Given the description of an element on the screen output the (x, y) to click on. 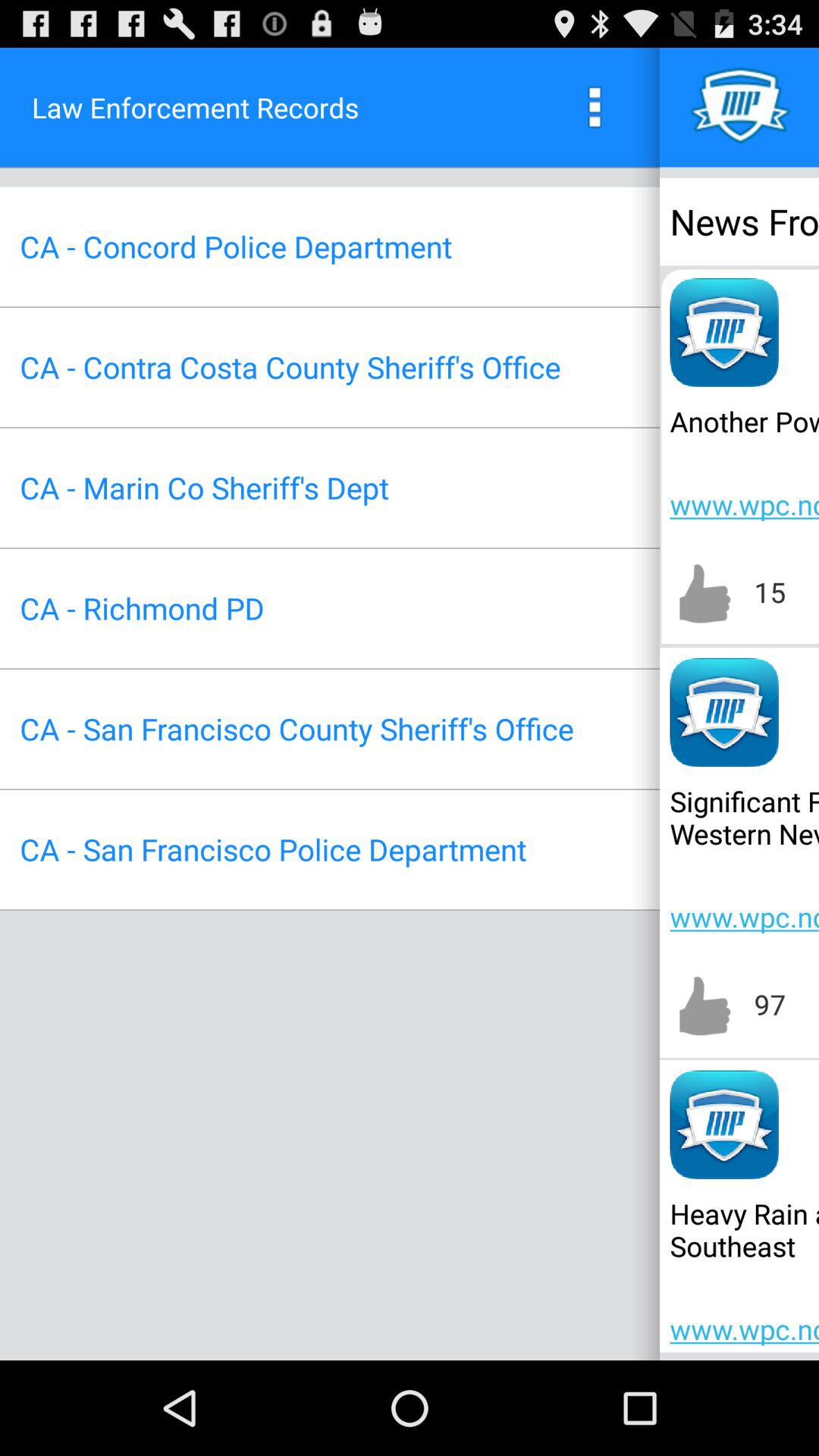
launch item above ca san francisco icon (141, 608)
